Given the description of an element on the screen output the (x, y) to click on. 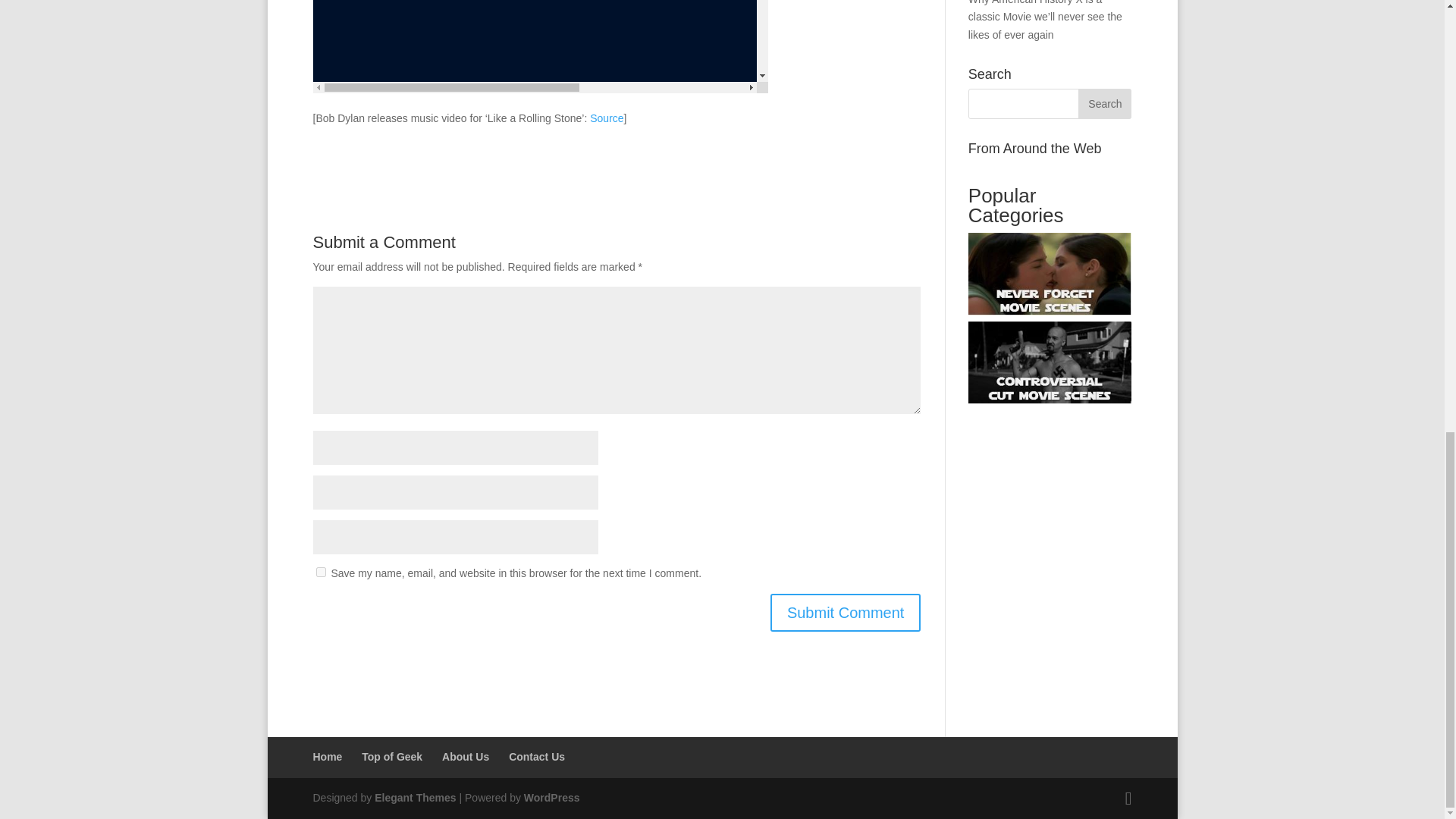
Search (1104, 103)
Submit Comment (845, 612)
Premium WordPress Themes (414, 797)
yes (319, 572)
